Given the description of an element on the screen output the (x, y) to click on. 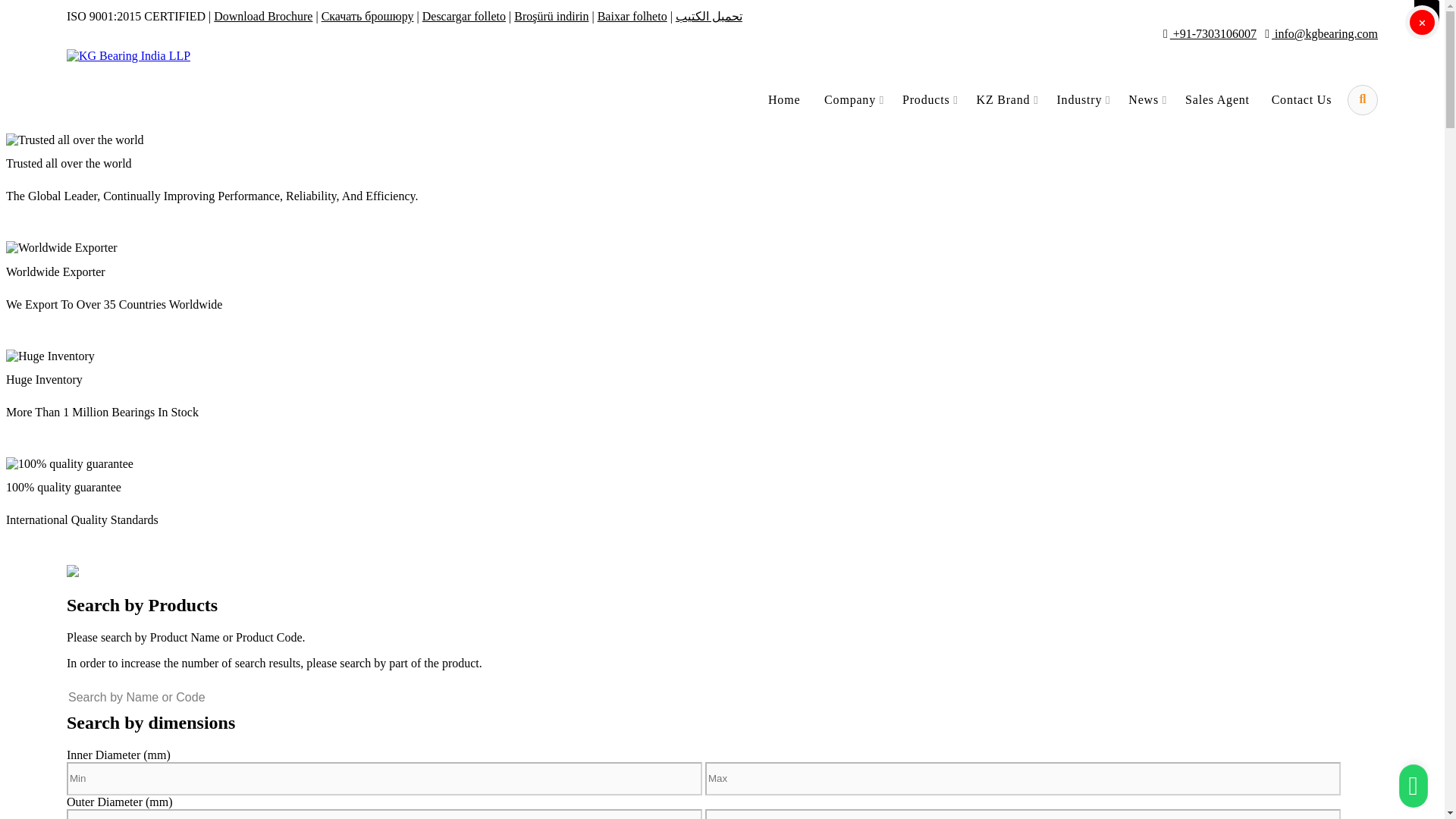
KG Bearing India LLP (128, 55)
Download Brochure (263, 15)
Products (931, 99)
Descargar folleto (463, 15)
Baixar folheto (631, 15)
Company (855, 99)
